Given the description of an element on the screen output the (x, y) to click on. 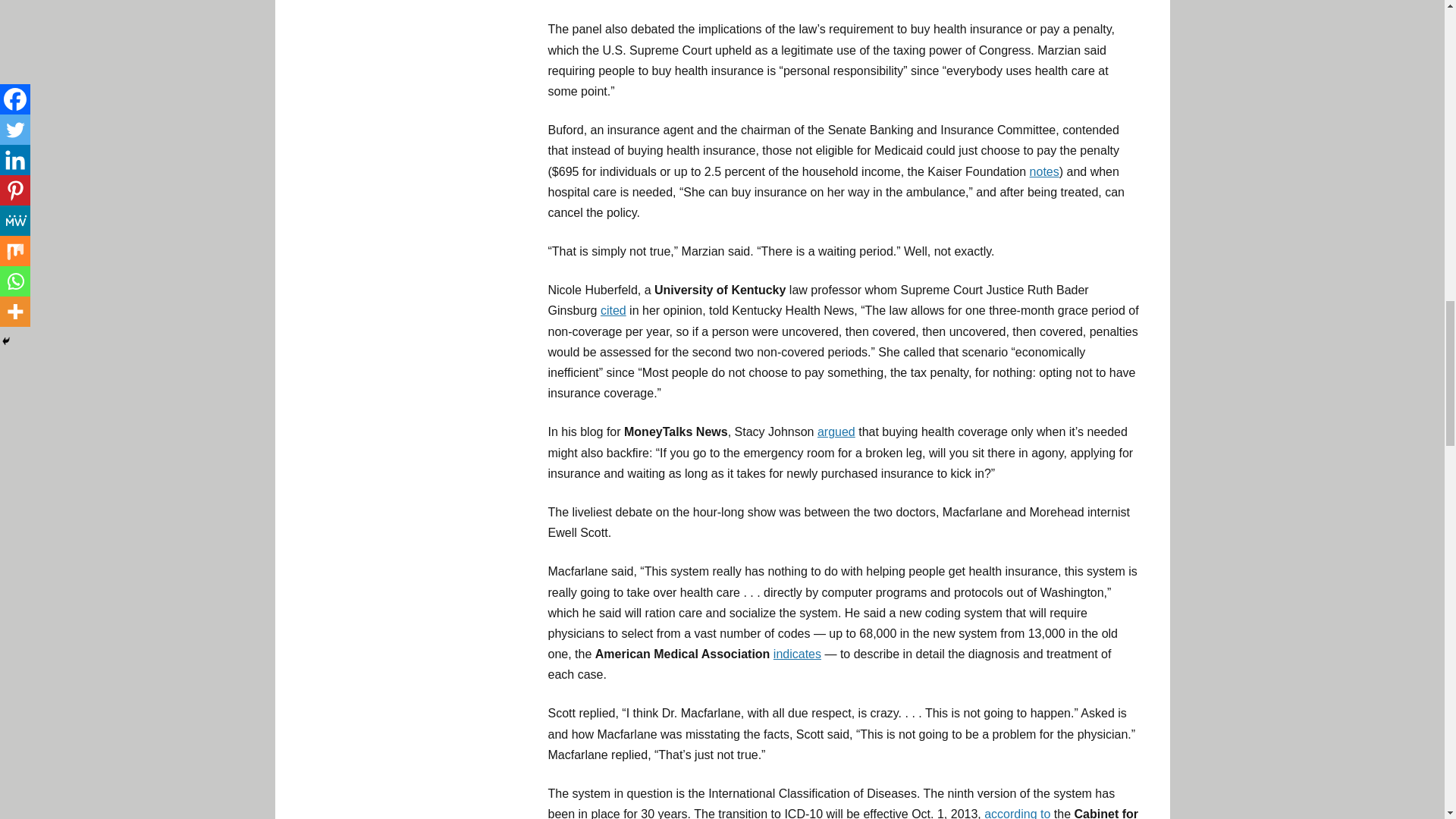
indicates (797, 653)
notes (1044, 171)
argued (836, 431)
according to (1016, 813)
cited (612, 309)
